Given the description of an element on the screen output the (x, y) to click on. 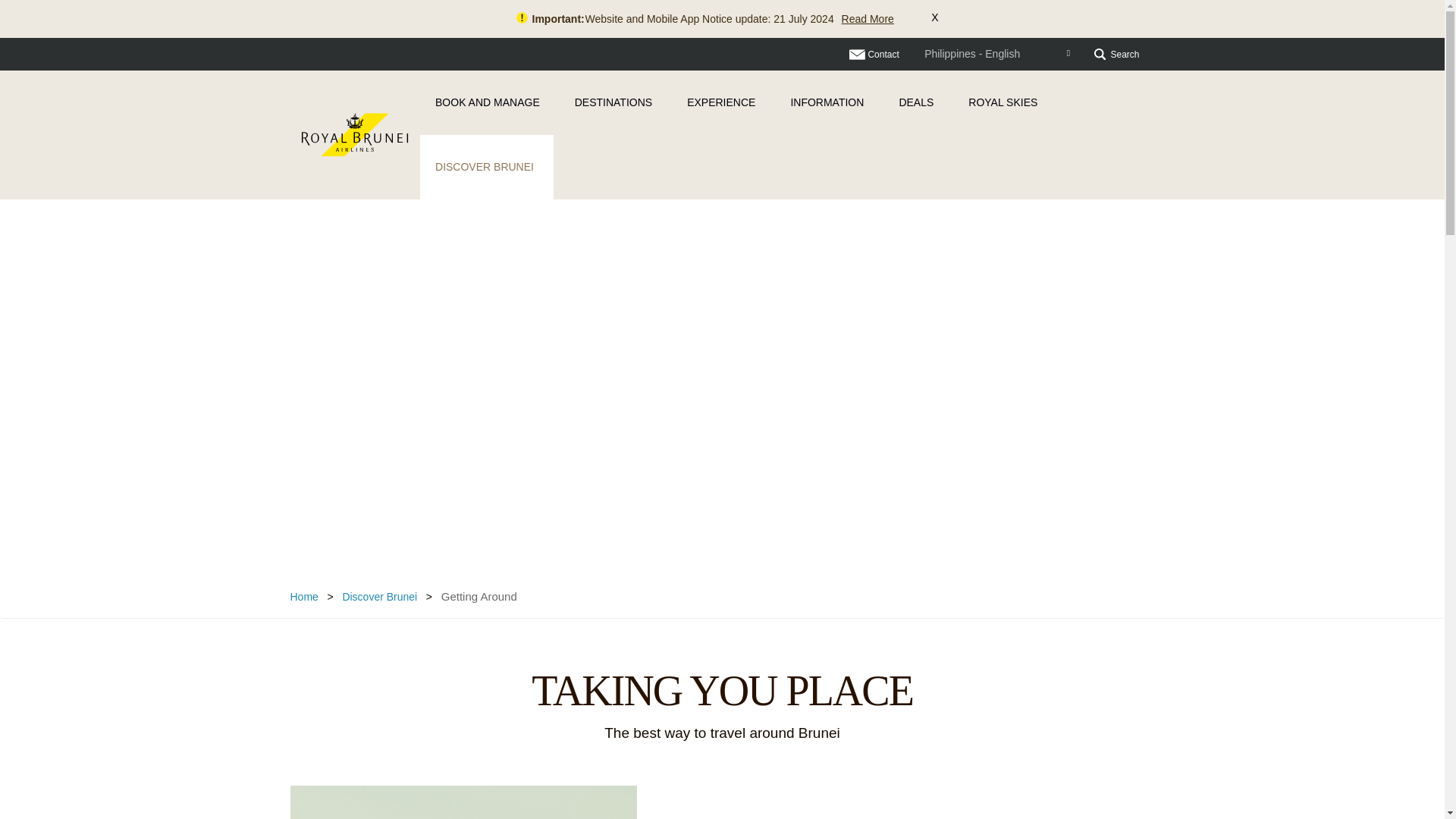
DESTINATIONS (615, 102)
Website and Mobile App Notice update: 21 July 2024 Read More (739, 19)
BOOK AND MANAGE (489, 102)
Contact (873, 54)
